Given the description of an element on the screen output the (x, y) to click on. 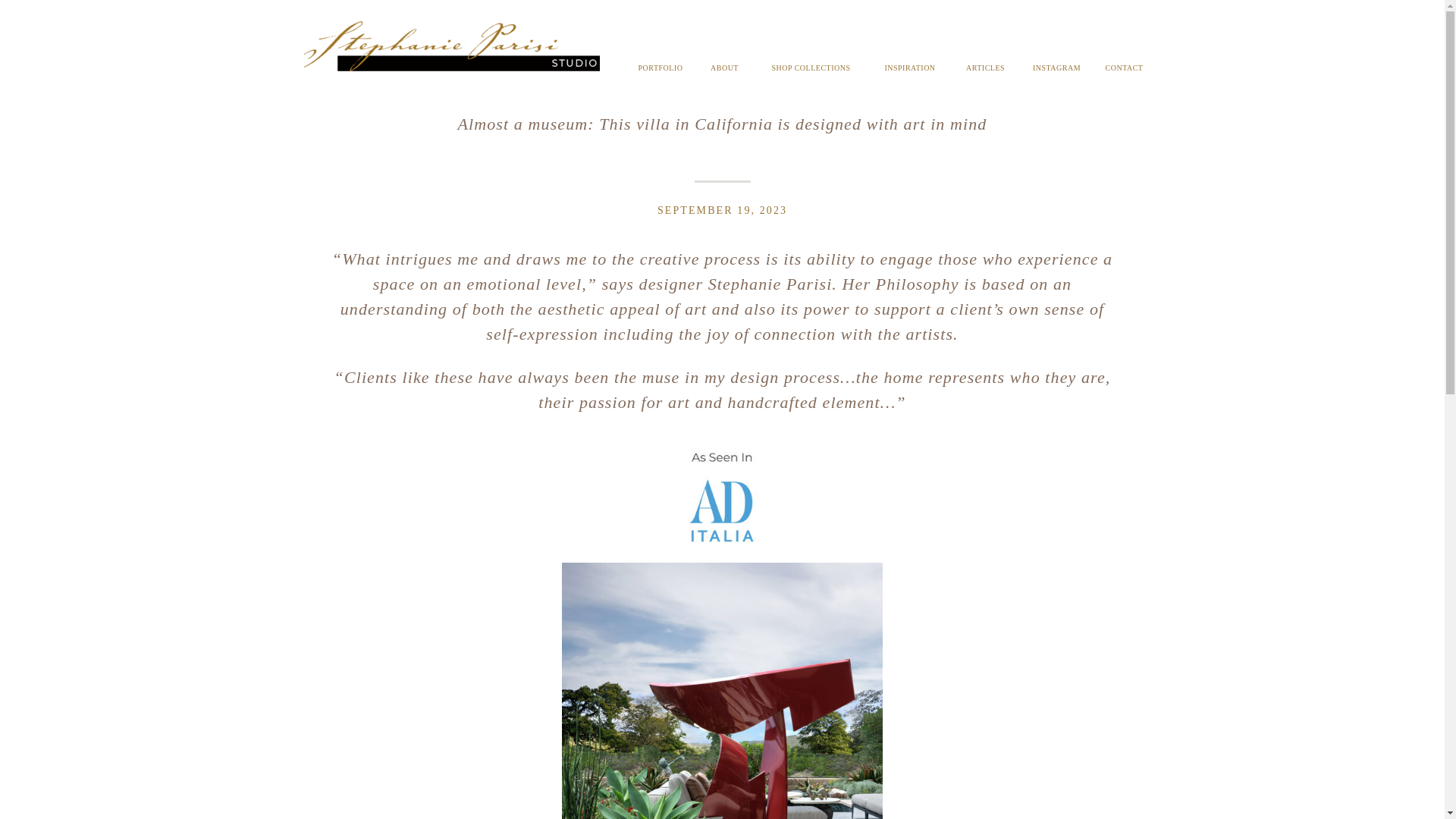
PORTFOLIO (659, 71)
CONTACT (1124, 71)
INSTAGRAM (1056, 71)
ABOUT (724, 71)
INSPIRATION (909, 71)
ARTICLES (985, 71)
SHOP COLLECTIONS (810, 71)
